Given the description of an element on the screen output the (x, y) to click on. 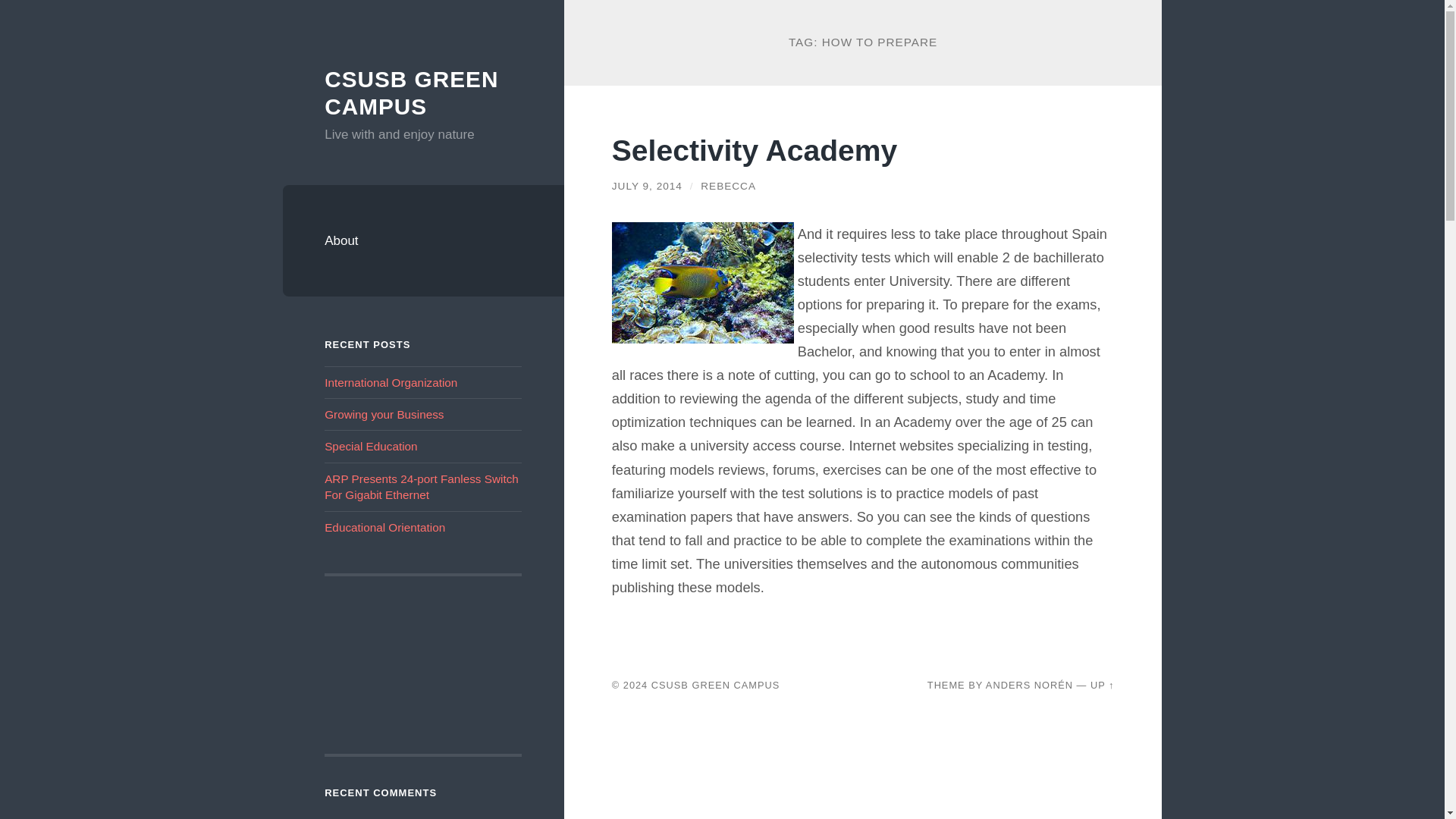
Educational Orientation (384, 526)
Special Education (370, 445)
Posts by Rebecca (727, 185)
ARP Presents 24-port Fanless Switch For Gigabit Ethernet (421, 486)
CSUSB GREEN CAMPUS (410, 92)
International Organization (390, 382)
About (422, 240)
Growing your Business (384, 413)
